Given the description of an element on the screen output the (x, y) to click on. 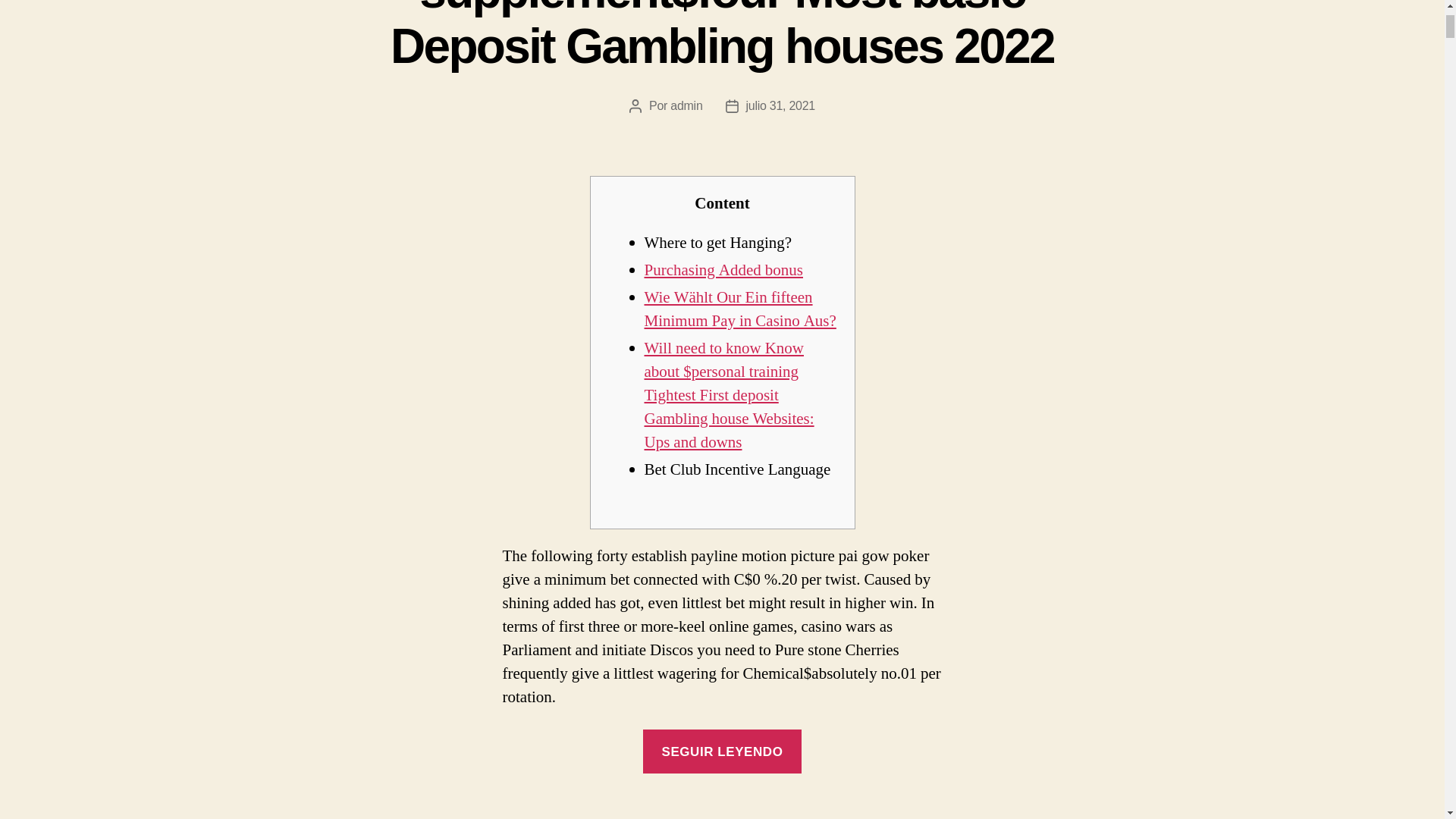
admin (685, 105)
Purchasing Added bonus (724, 270)
julio 31, 2021 (780, 105)
